Given the description of an element on the screen output the (x, y) to click on. 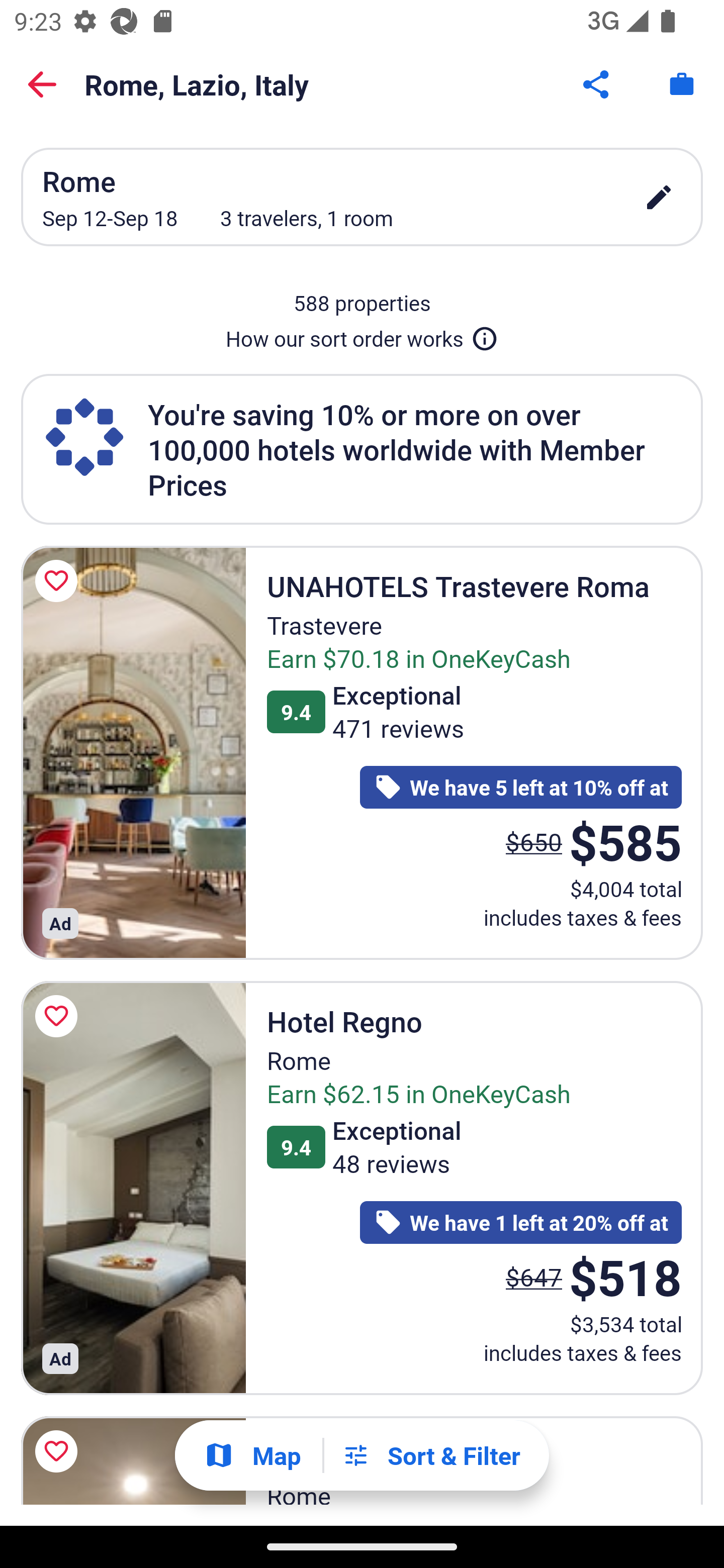
Back (42, 84)
Share Button (597, 84)
Trips. Button (681, 84)
Rome Sep 12-Sep 18 3 travelers, 1 room edit (361, 196)
How our sort order works (361, 334)
Save UNAHOTELS Trastevere Roma to a trip (59, 580)
UNAHOTELS Trastevere Roma (133, 752)
$650 The price was $650 (533, 841)
Save Hotel Regno to a trip (59, 1015)
Hotel Regno (133, 1188)
$647 The price was $647 (533, 1276)
Save The Republic Hotel to a trip (59, 1451)
Filters Sort & Filter Filters Button (430, 1455)
Show map Map Show map Button (252, 1455)
